Given the description of an element on the screen output the (x, y) to click on. 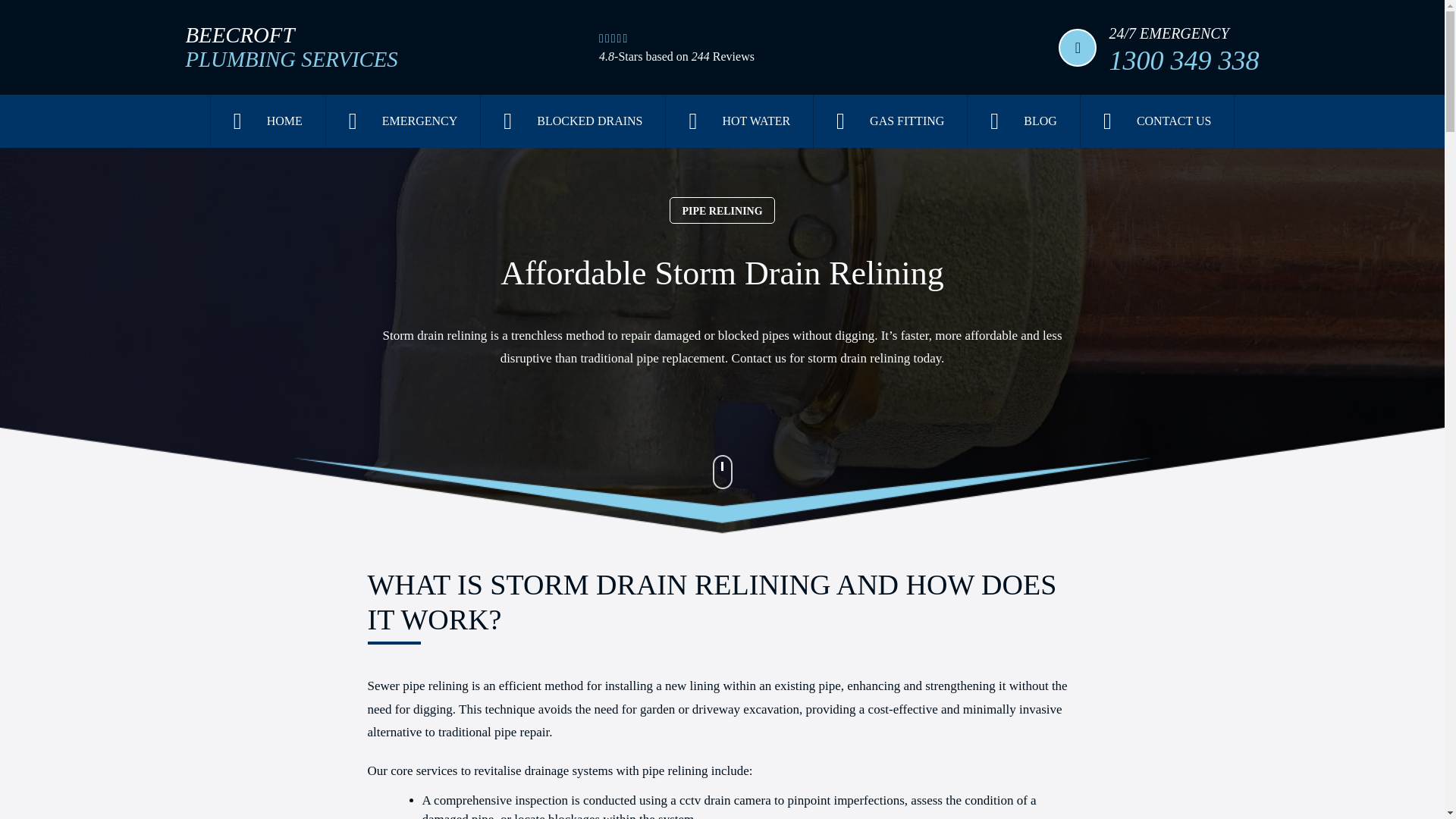
GAS FITTING (889, 121)
1300 349 338 (290, 47)
1300 349 338 (1183, 60)
BLOG (1183, 60)
HOT WATER (1024, 121)
Beecroft Plumbing Services (738, 121)
BLOCKED DRAINS (290, 47)
CONTACT US (572, 121)
PIPE RELINING (1156, 121)
